Given the description of an element on the screen output the (x, y) to click on. 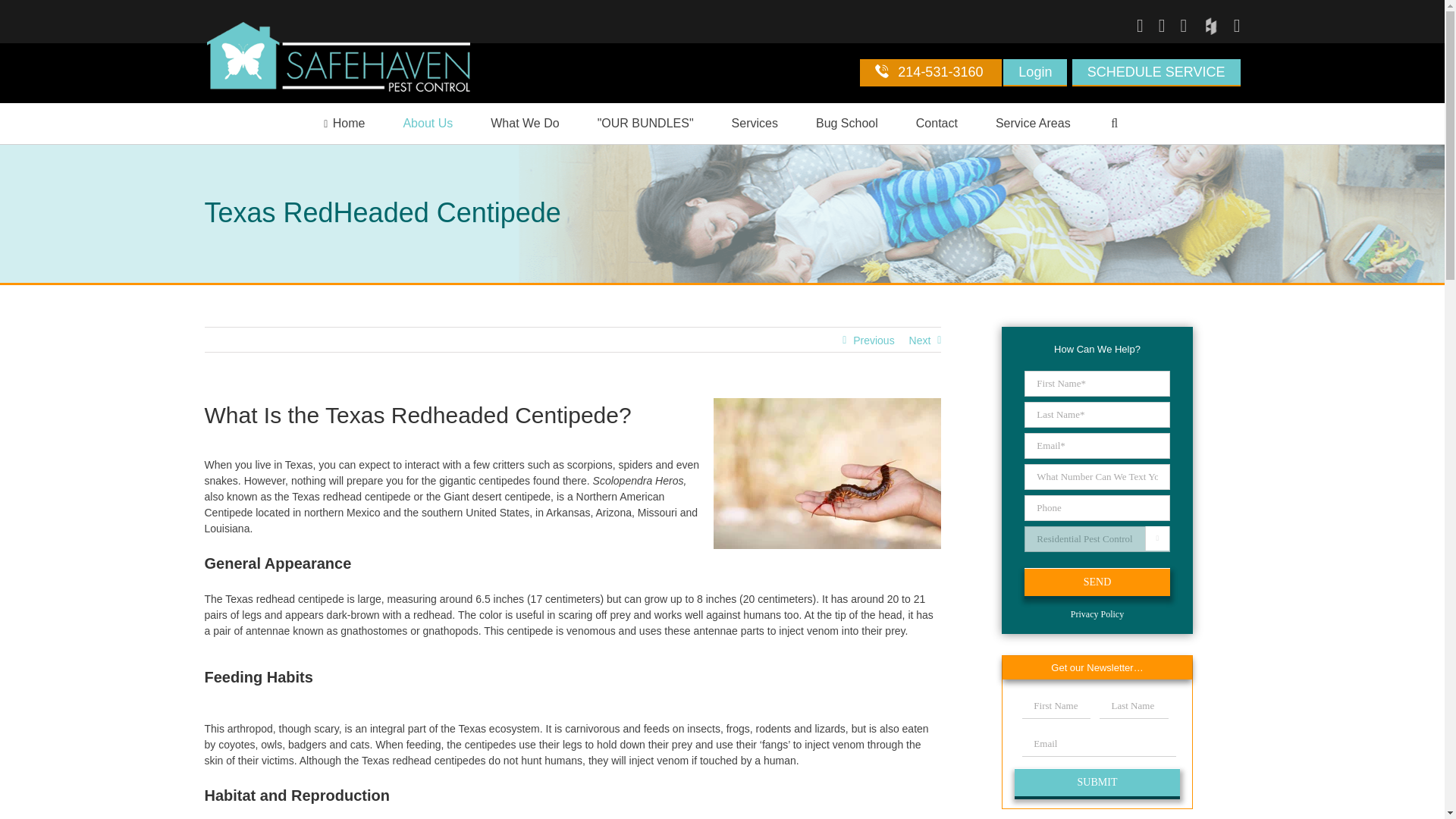
Send (1097, 581)
Login (1035, 72)
SCHEDULE SERVICE (1155, 72)
"OUR BUNDLES" (645, 123)
What We Do (524, 123)
Submit (1096, 782)
Services (754, 123)
About Us (427, 123)
Home (344, 123)
Bug School (846, 123)
